Given the description of an element on the screen output the (x, y) to click on. 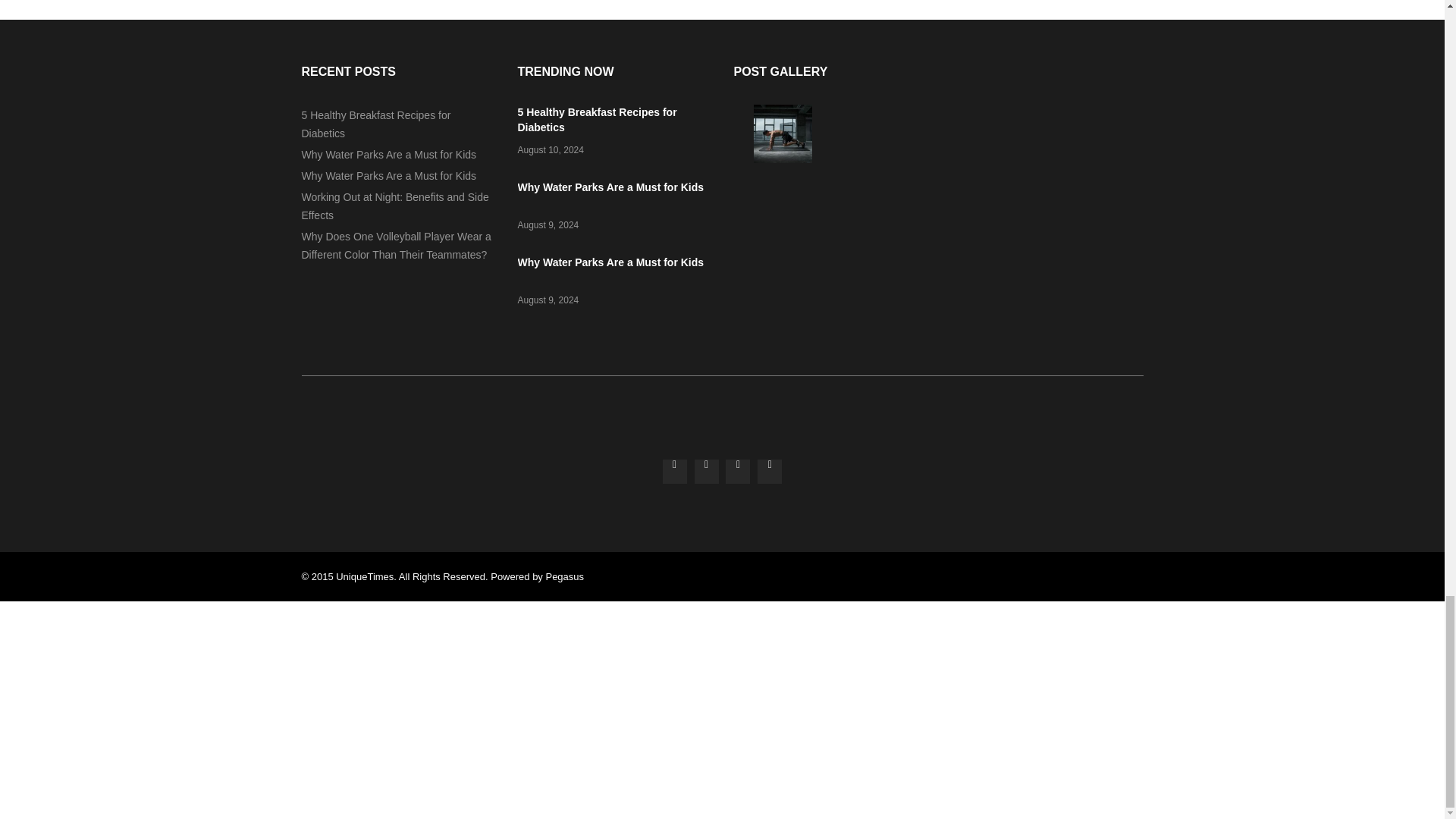
Why Water Parks Are a Must for Kids (609, 262)
5 Healthy Breakfast Recipes for Diabetics (596, 119)
Why Water Parks Are a Must for Kids (609, 186)
Working Out at Night: Benefits and Side Effects (783, 159)
